Given the description of an element on the screen output the (x, y) to click on. 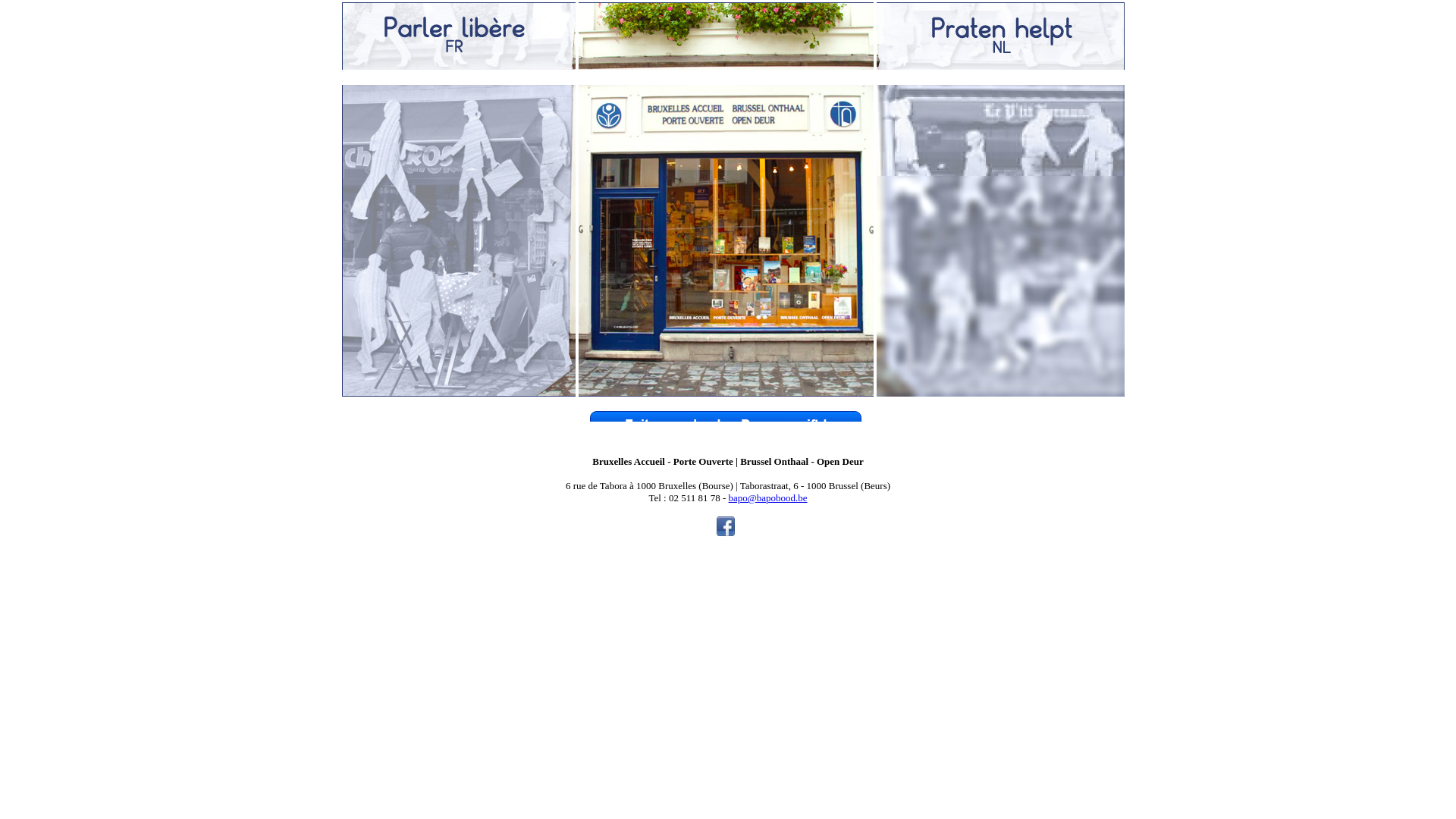
Version FR Element type: hover (458, 35)
/accueil_02.jpg Element type: hover (725, 35)
Faites un don  -  Doe een gift Element type: hover (725, 425)
/accueil2_05.jpg Element type: hover (725, 240)
Faites un don  -  Doe een gift Element type: hover (725, 436)
NL versie Element type: hover (1000, 240)
Version FR Element type: hover (458, 240)
bapo@bapobood.be Element type: text (767, 497)
NL versie Element type: hover (1000, 35)
